Given the description of an element on the screen output the (x, y) to click on. 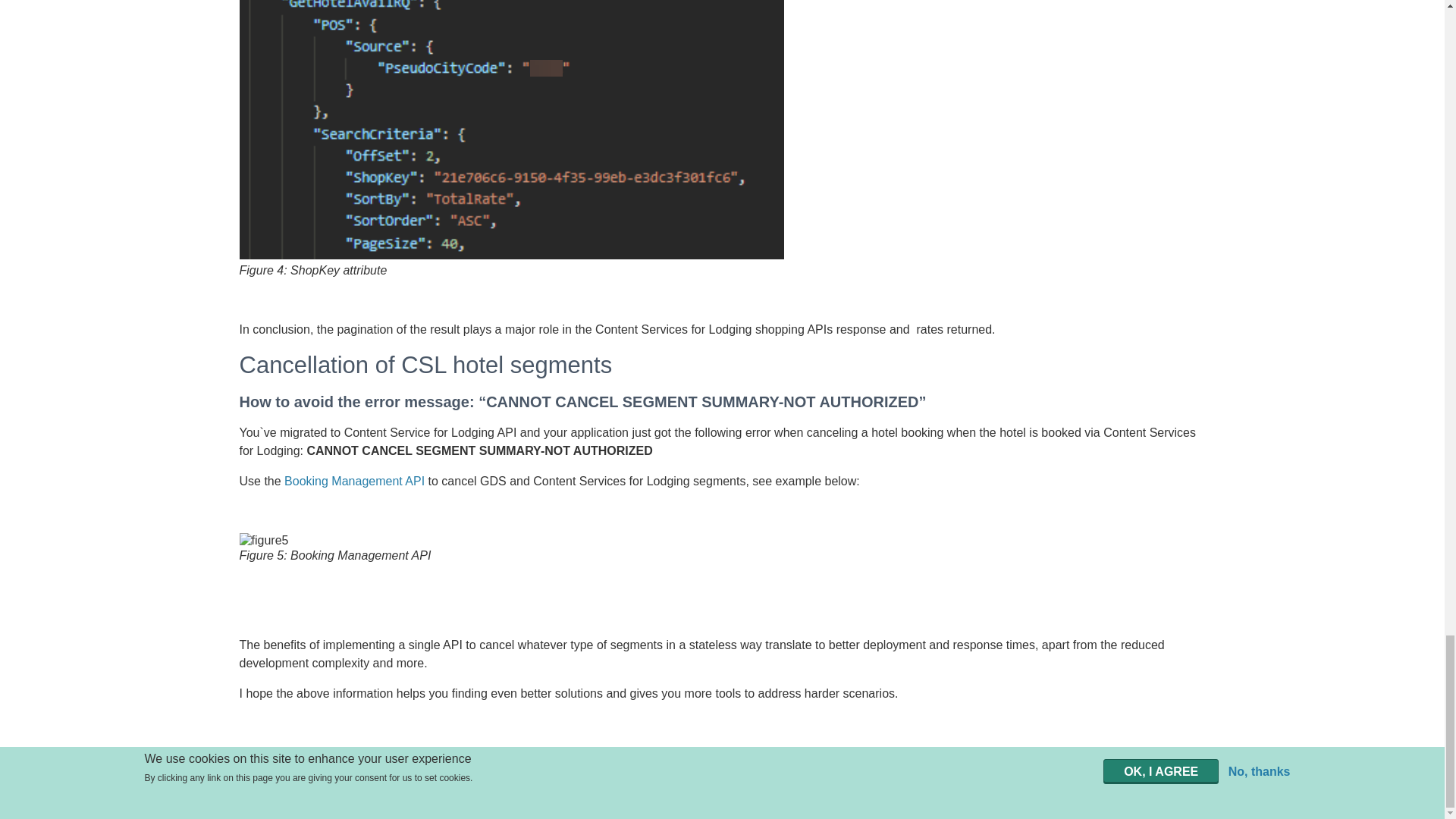
twitter (1369, 784)
youtube-play (1415, 785)
